Given the description of an element on the screen output the (x, y) to click on. 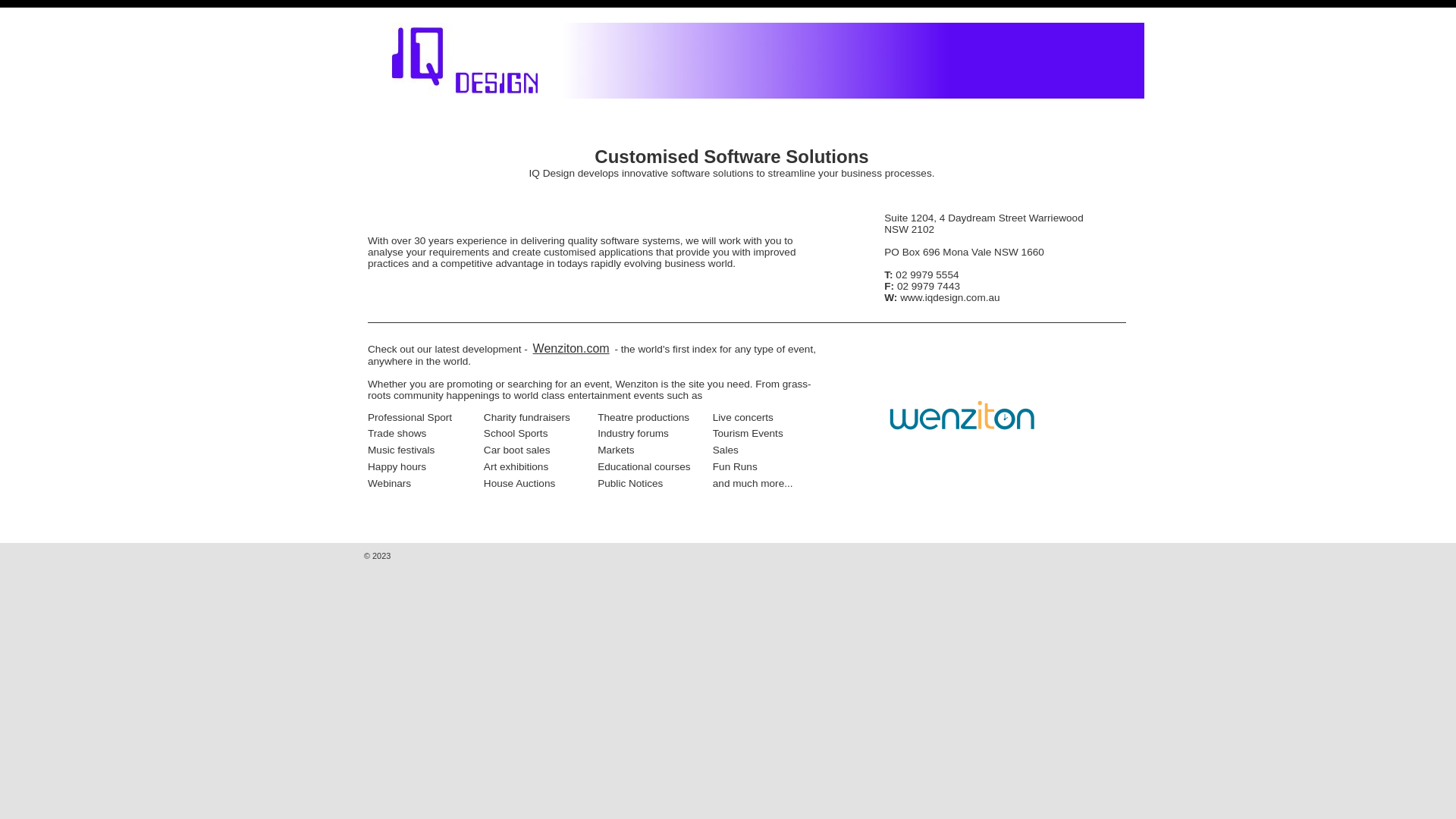
Wenziton.com Element type: text (570, 348)
